Given the description of an element on the screen output the (x, y) to click on. 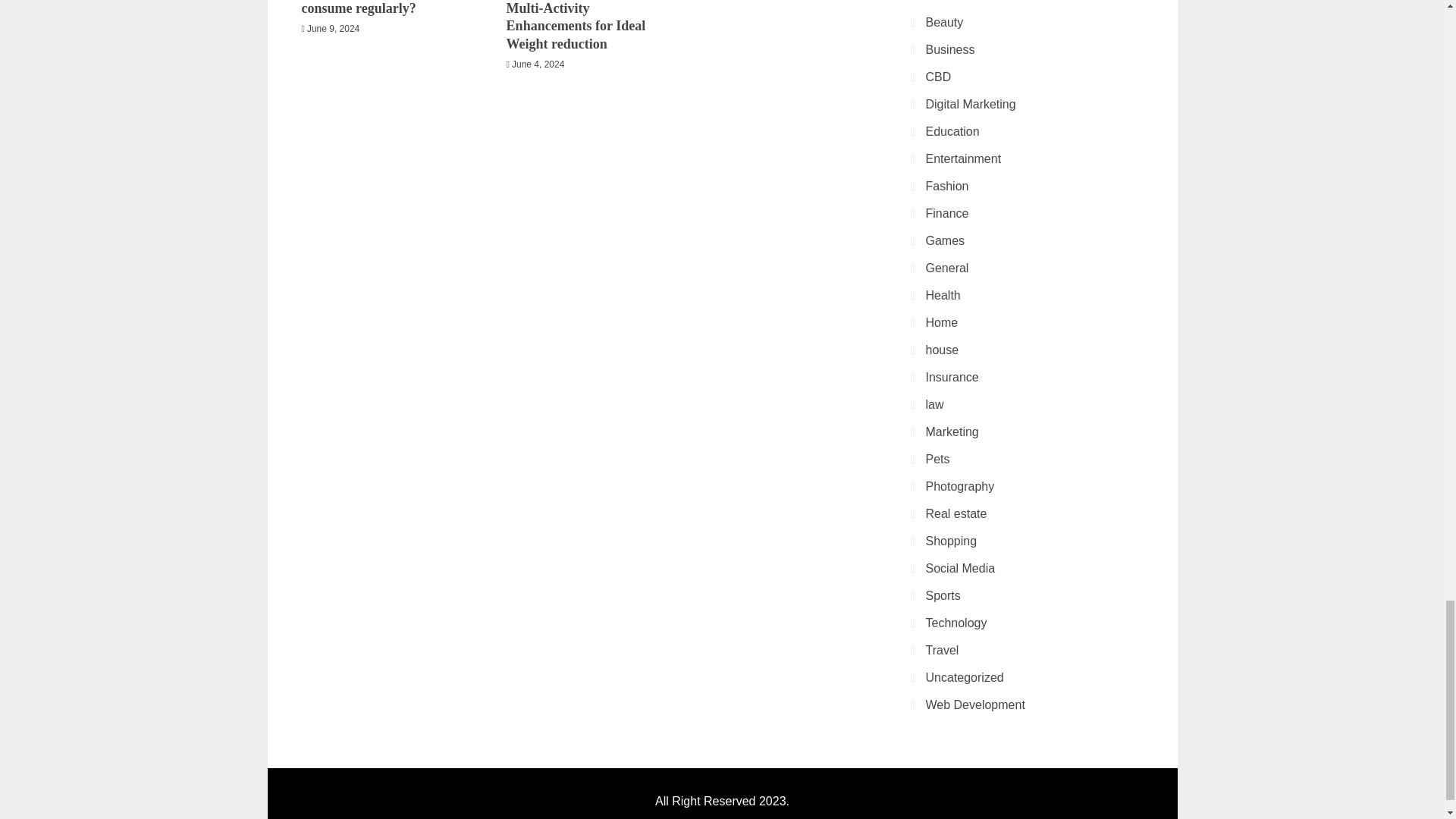
June 9, 2024 (333, 28)
Are delta 9 edibles safe to consume regularly? (375, 7)
